Given the description of an element on the screen output the (x, y) to click on. 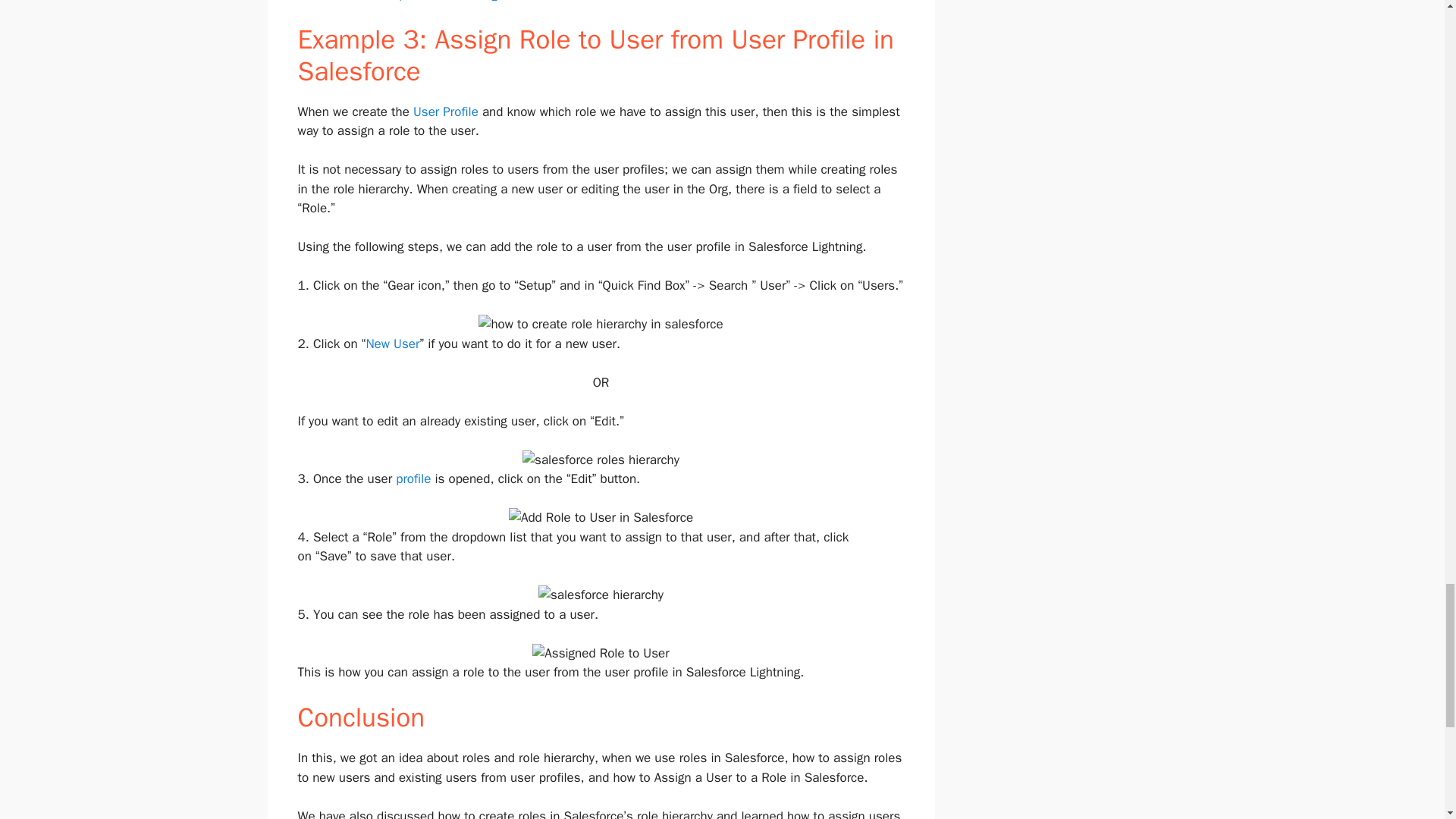
profile (413, 478)
New User (392, 343)
User Profile (446, 111)
